Given the description of an element on the screen output the (x, y) to click on. 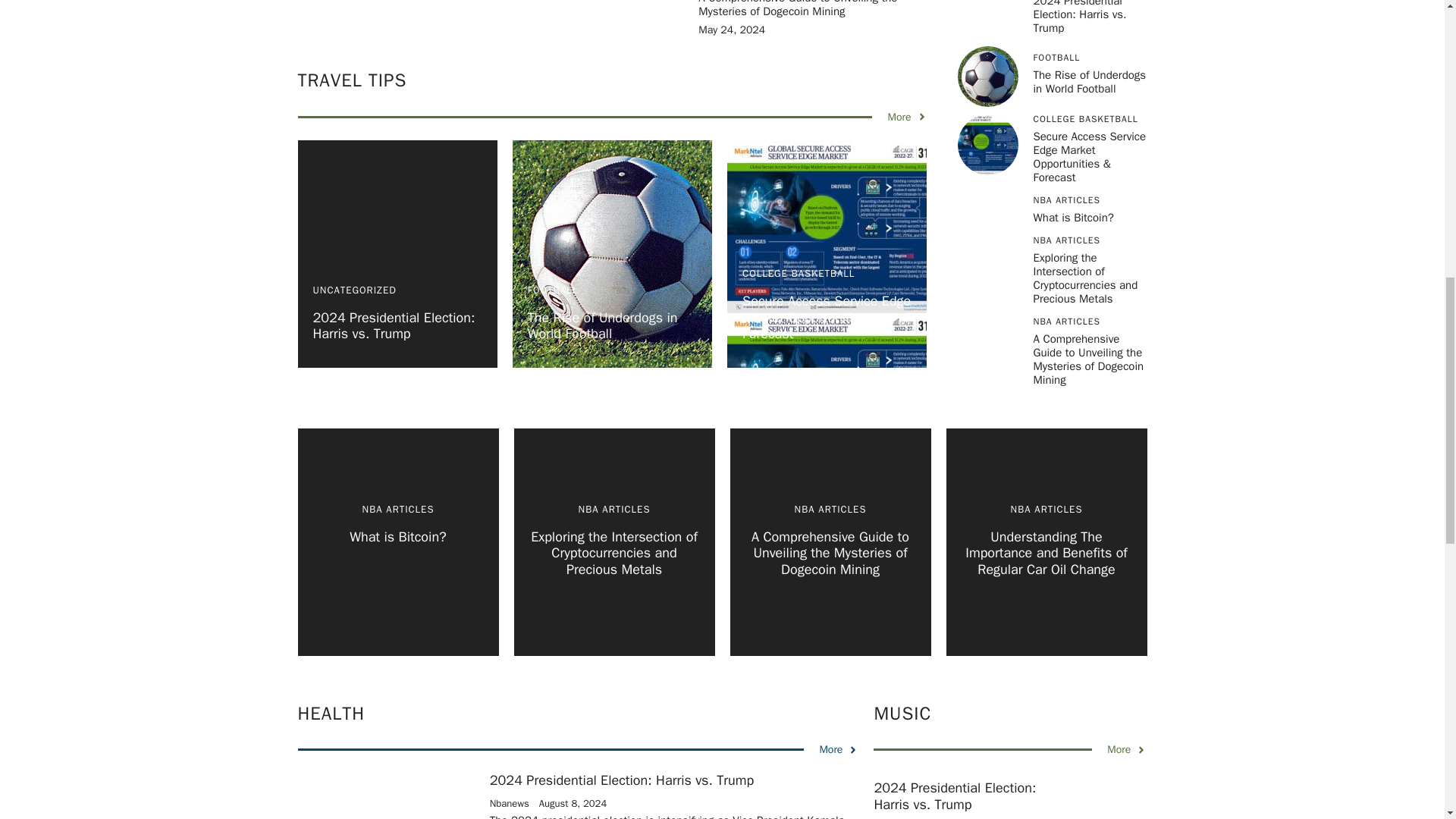
2024 Presidential Election: Harris vs. Trump (393, 326)
FOOTBALL (552, 289)
More (906, 116)
UNCATEGORIZED (354, 289)
The Rise of Underdogs in World Football (602, 326)
